Given the description of an element on the screen output the (x, y) to click on. 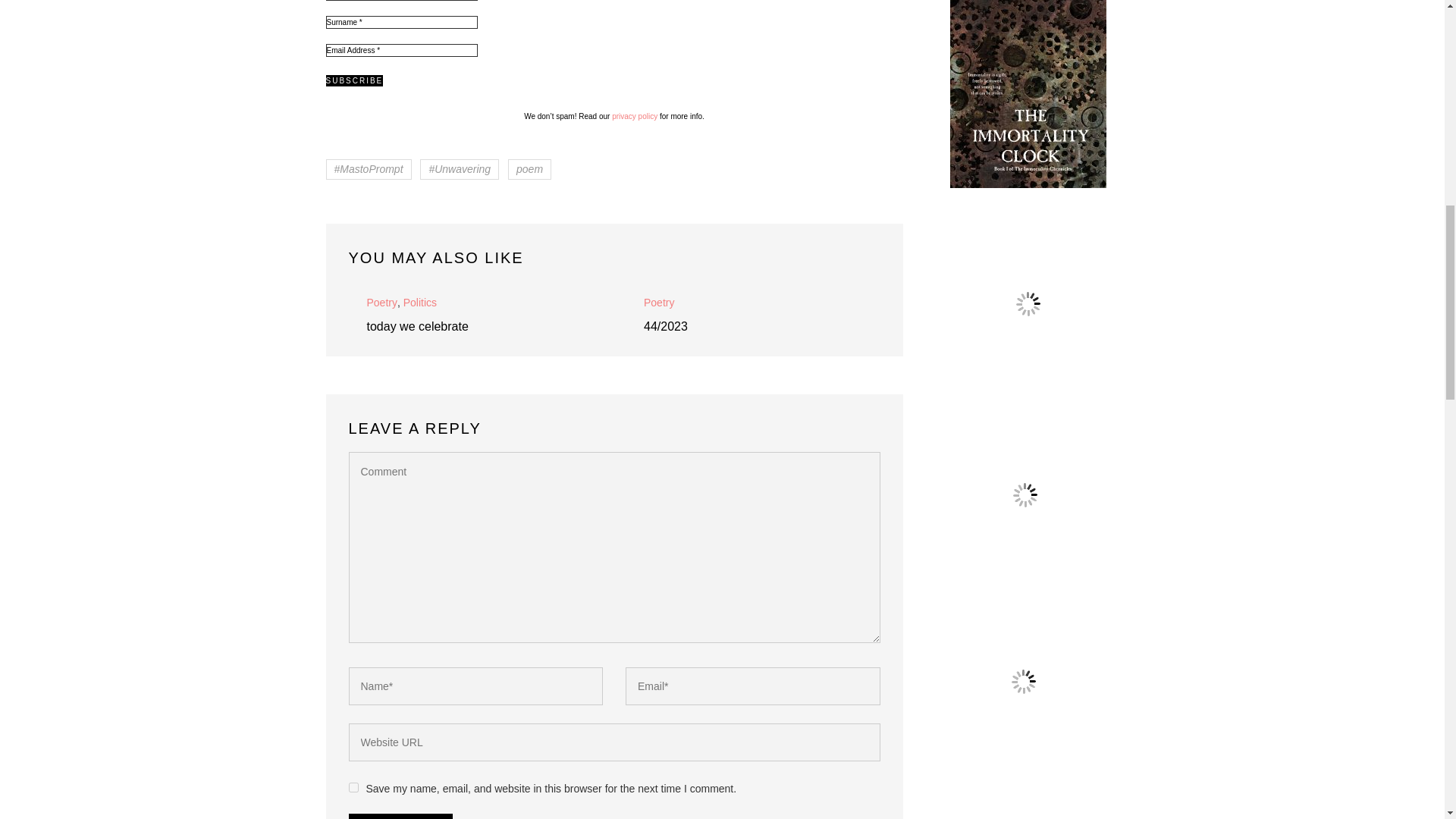
yes (353, 787)
Submit (400, 816)
Submit (400, 816)
Email Address (401, 50)
Poetry (658, 302)
Politics (419, 302)
Surname (401, 21)
Subscribe (355, 80)
privacy policy (634, 116)
Poetry (381, 302)
Subscribe (355, 80)
poem (529, 168)
today we celebrate (417, 326)
